Given the description of an element on the screen output the (x, y) to click on. 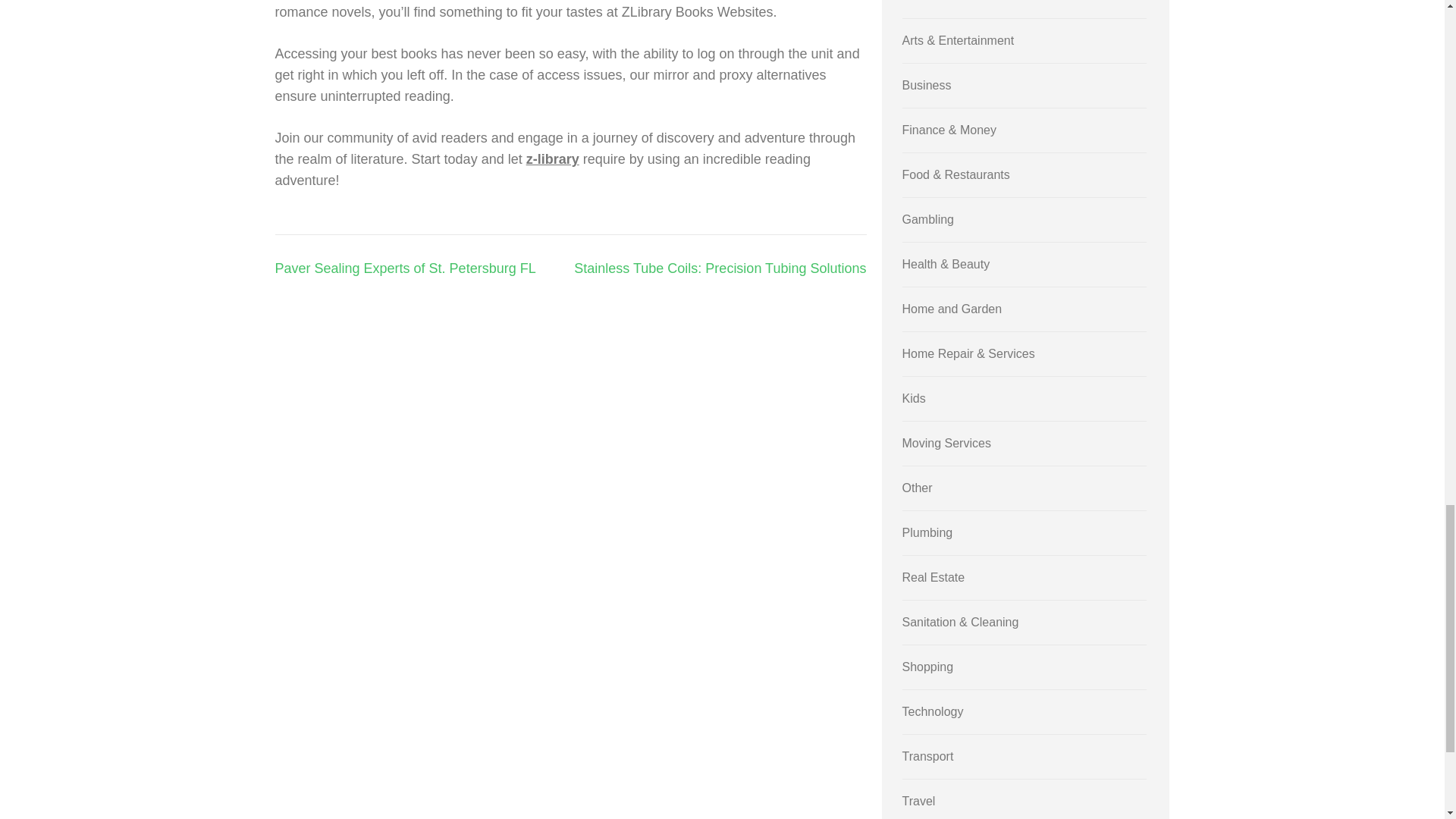
z-library (552, 159)
Stainless Tube Coils: Precision Tubing Solutions (719, 268)
Paver Sealing Experts of St. Petersburg FL (405, 268)
